Given the description of an element on the screen output the (x, y) to click on. 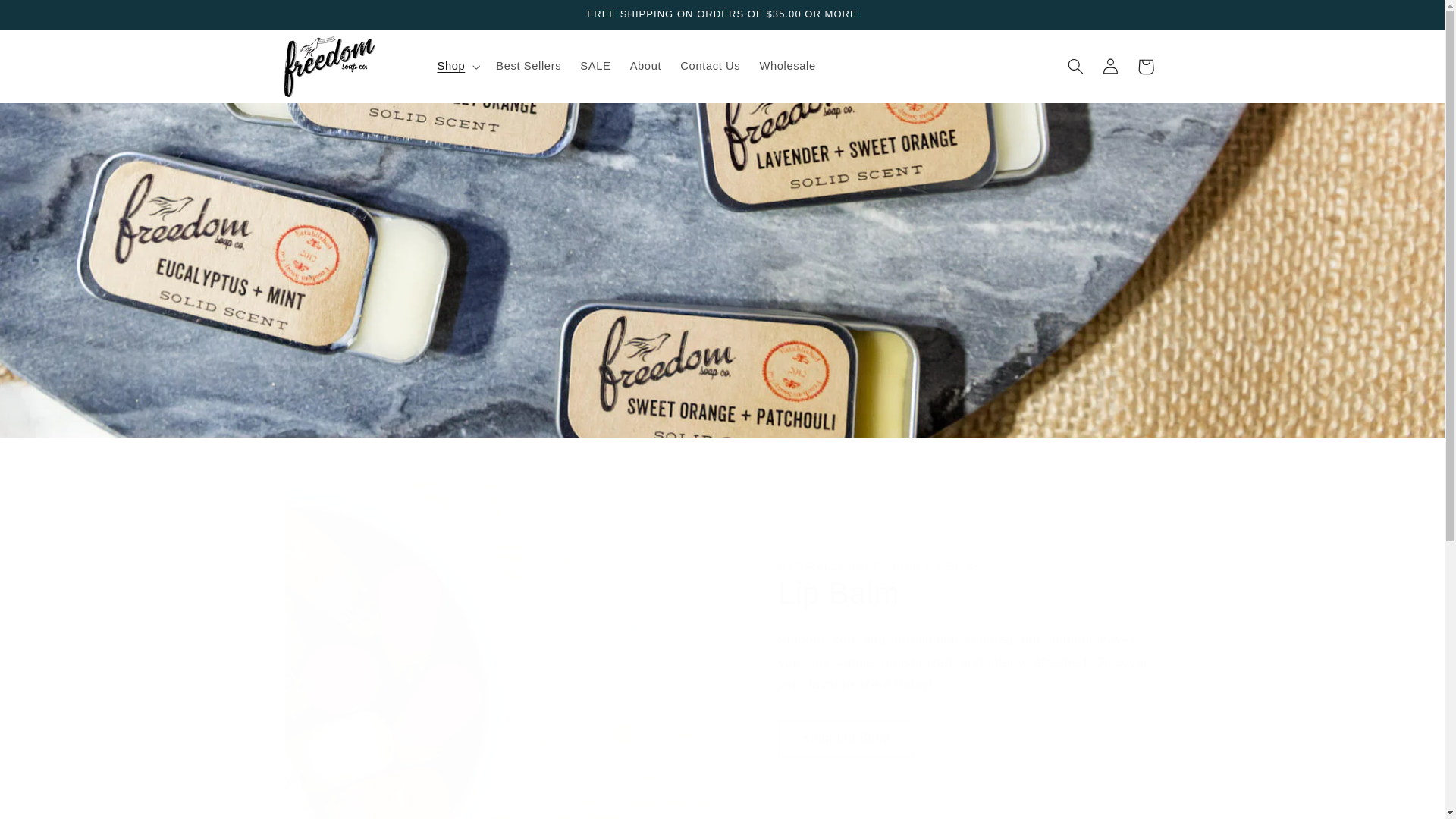
Wholesale (787, 66)
Skip to content (48, 18)
Contact Us (710, 66)
SALE (595, 66)
Log in (1110, 66)
Best Sellers (528, 66)
About (645, 66)
Cart (1145, 66)
